Given the description of an element on the screen output the (x, y) to click on. 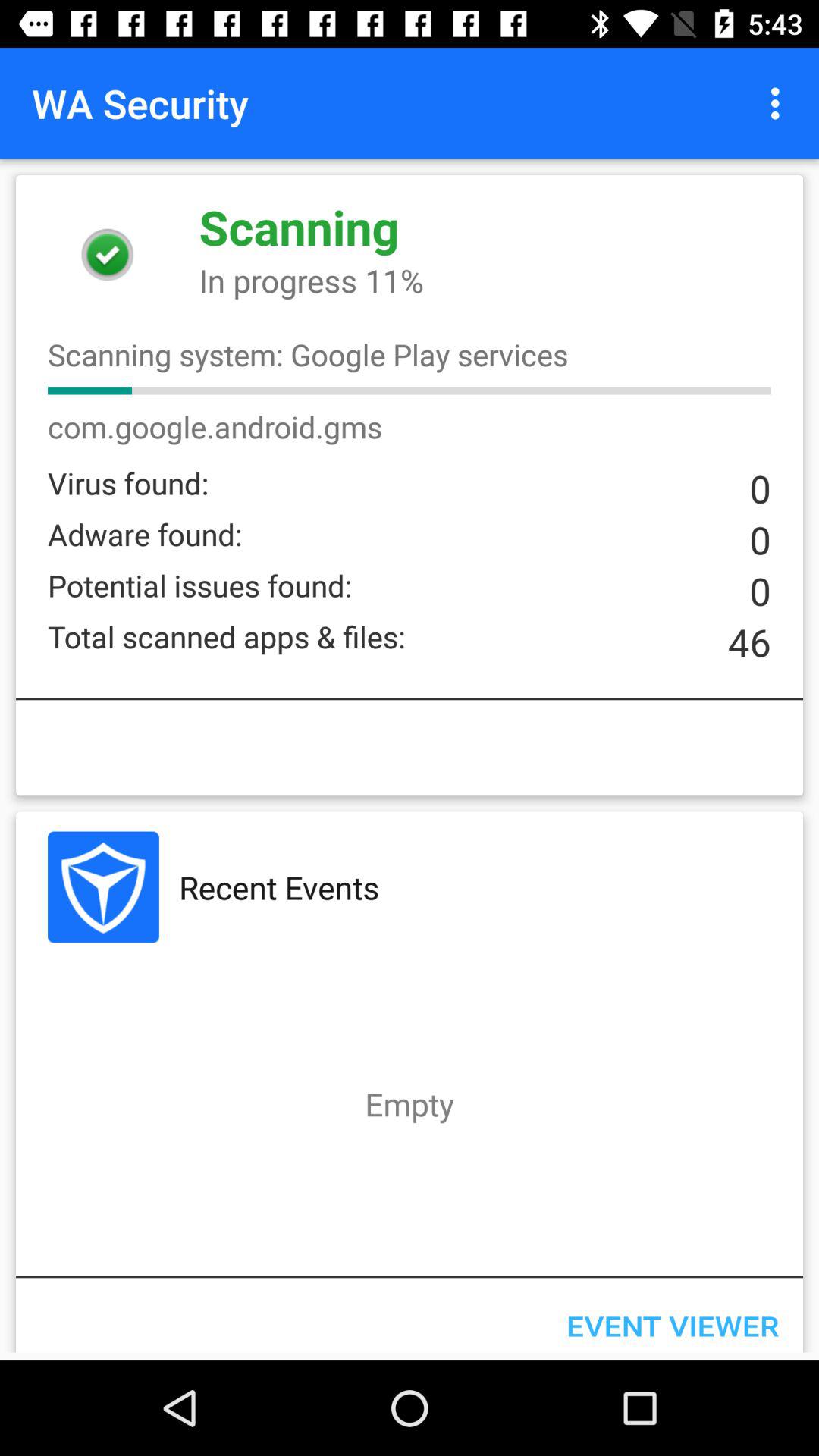
turn off icon at the top right corner (779, 103)
